Given the description of an element on the screen output the (x, y) to click on. 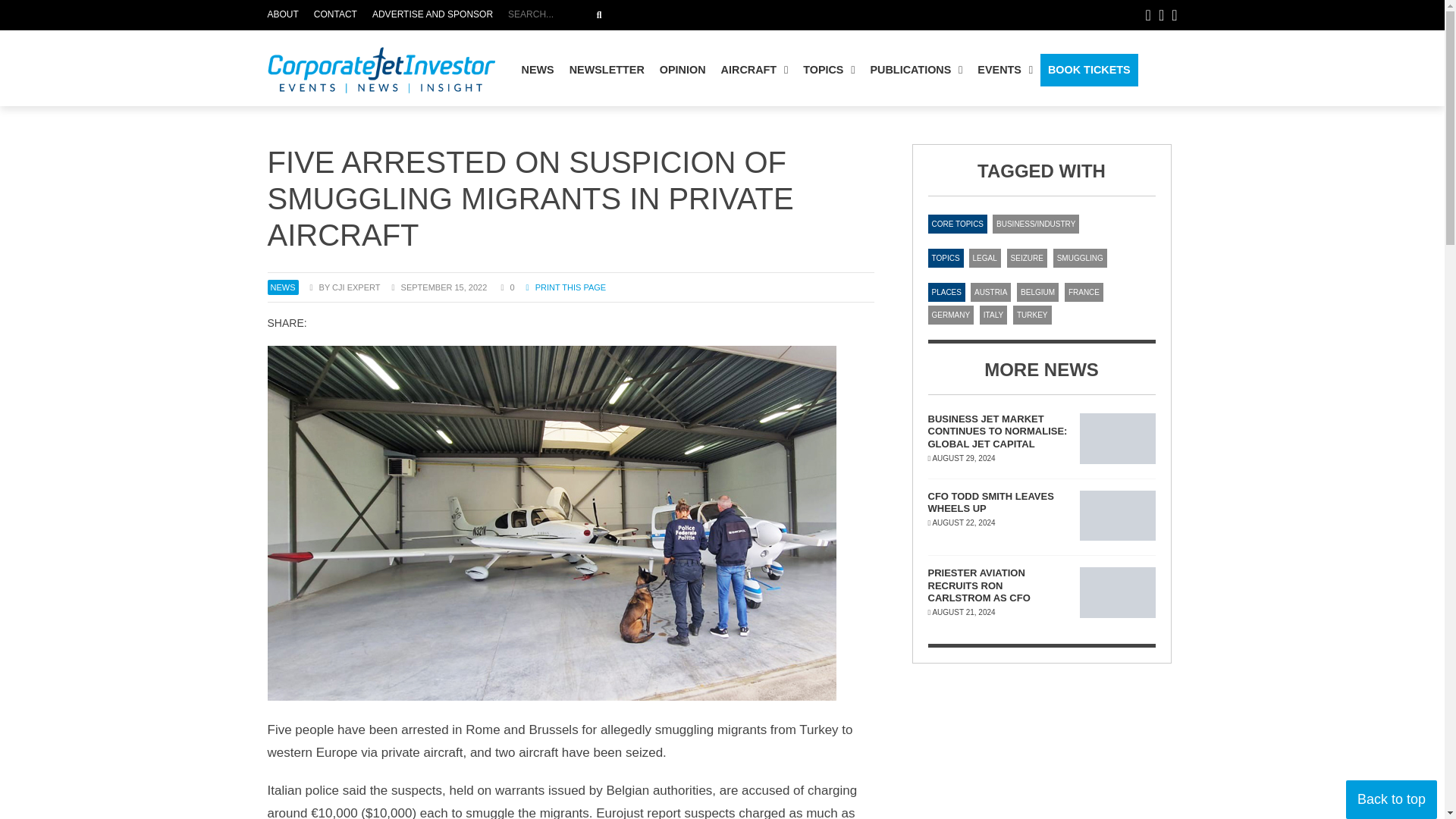
NEWS (598, 14)
EVENTS (537, 70)
Go to top (1005, 70)
PUBLICATIONS (683, 15)
ABOUT (1391, 799)
AIRCRAFT (915, 70)
ADVERTISE AND SPONSOR (285, 15)
NEWSLETTER (754, 70)
